Given the description of an element on the screen output the (x, y) to click on. 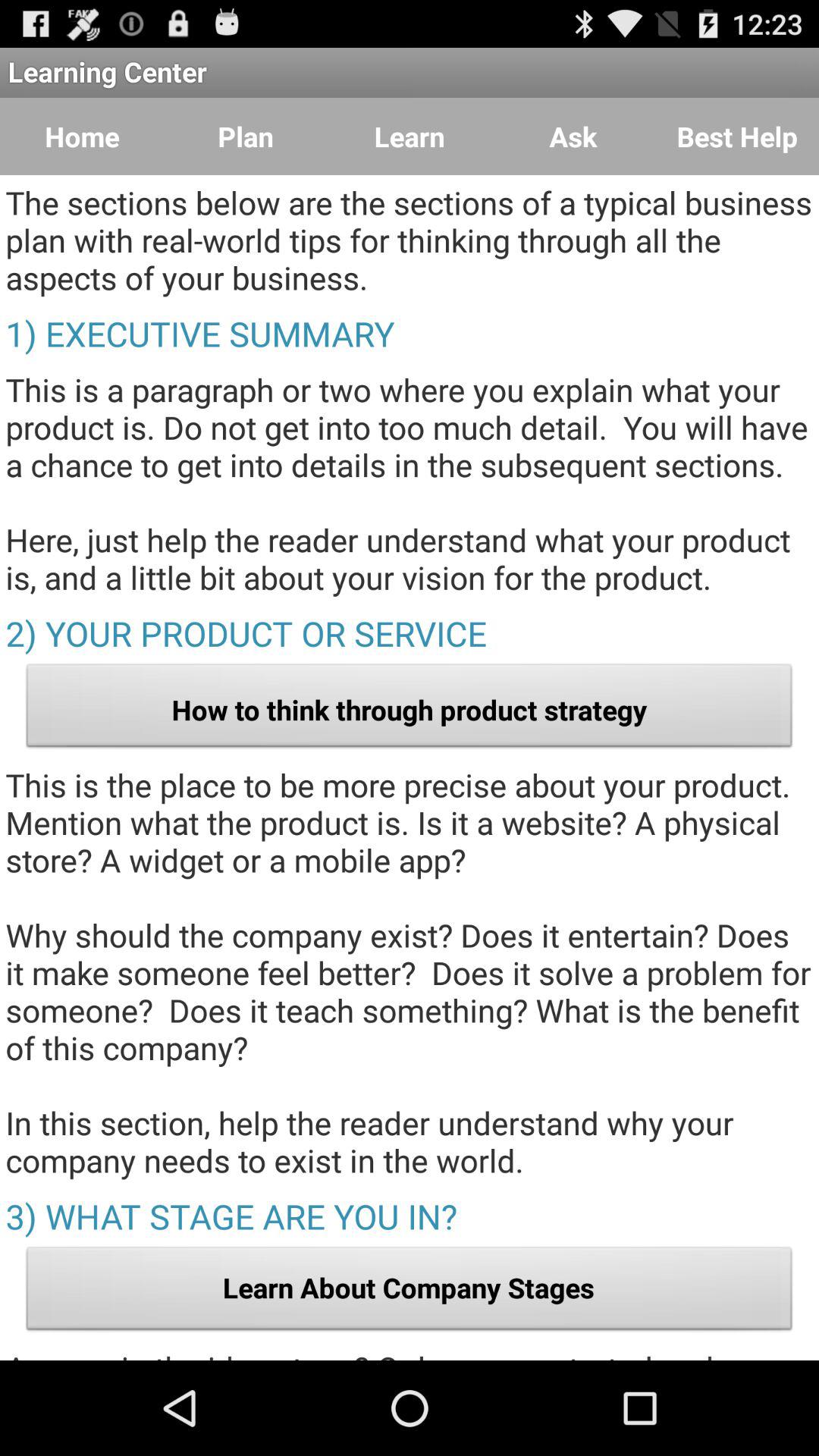
tap the app below the learning center icon (737, 136)
